Given the description of an element on the screen output the (x, y) to click on. 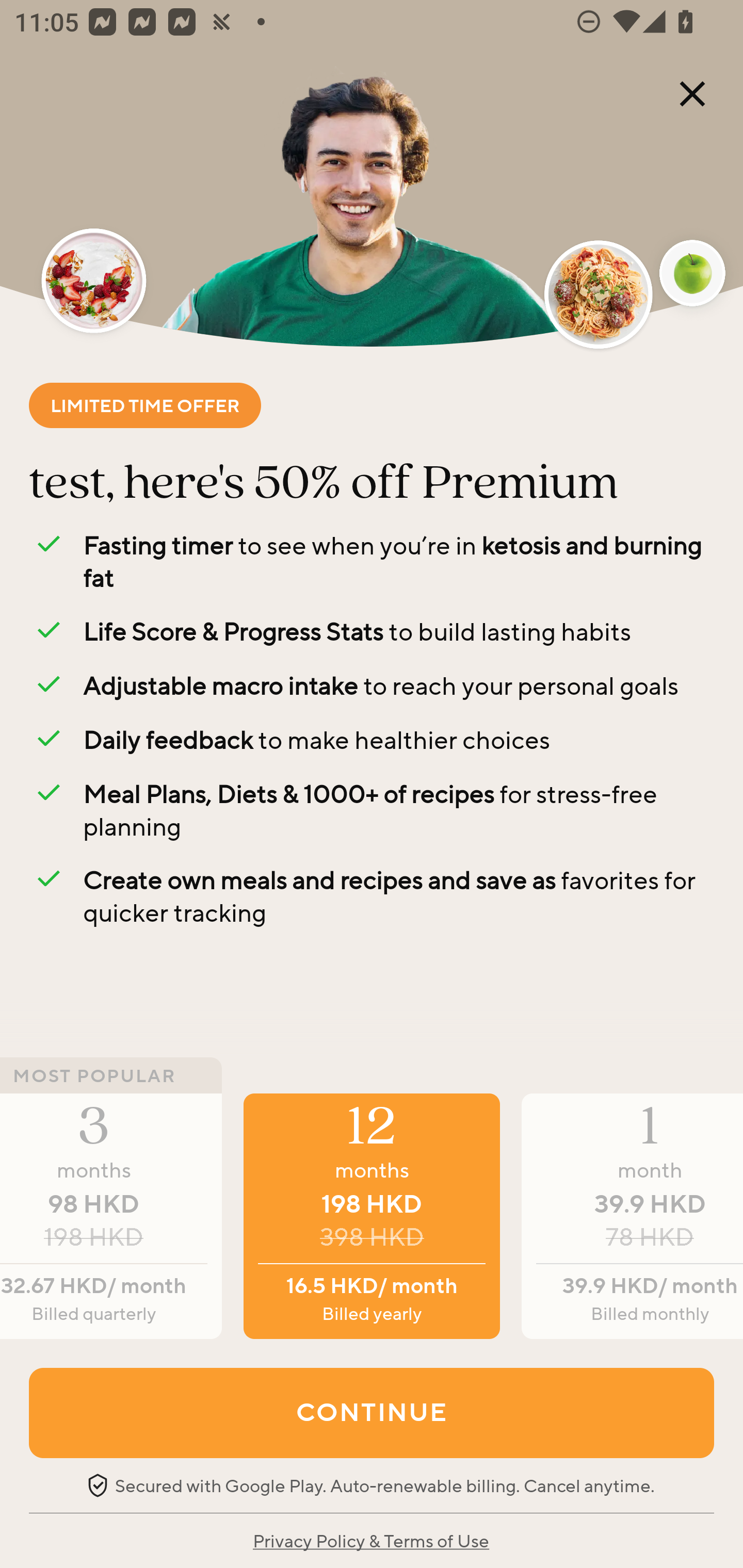
CONTINUE (371, 1412)
Privacy Policy & Terms of Use (370, 1540)
